Given the description of an element on the screen output the (x, y) to click on. 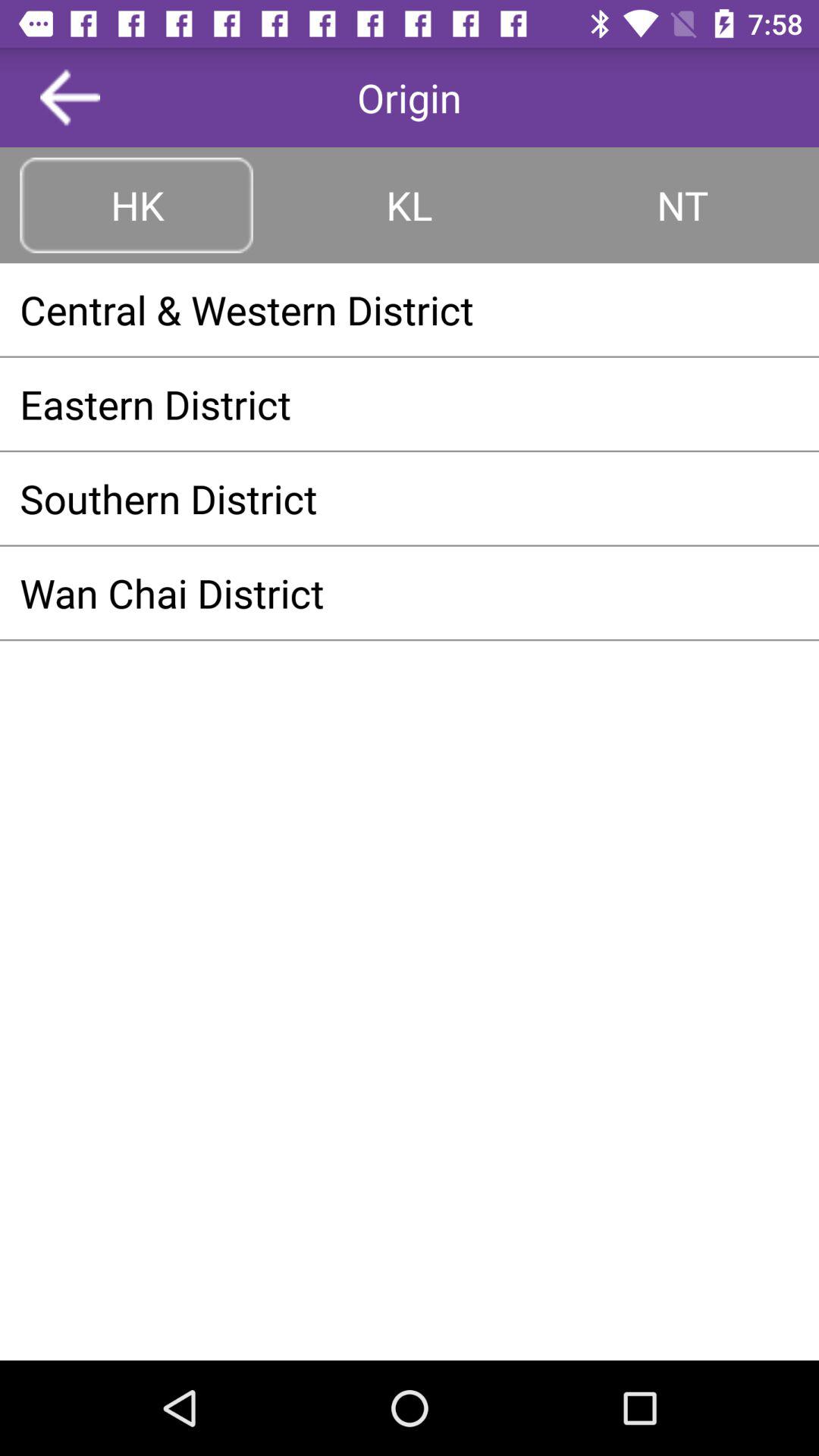
scroll to the wan chai district app (409, 592)
